Given the description of an element on the screen output the (x, y) to click on. 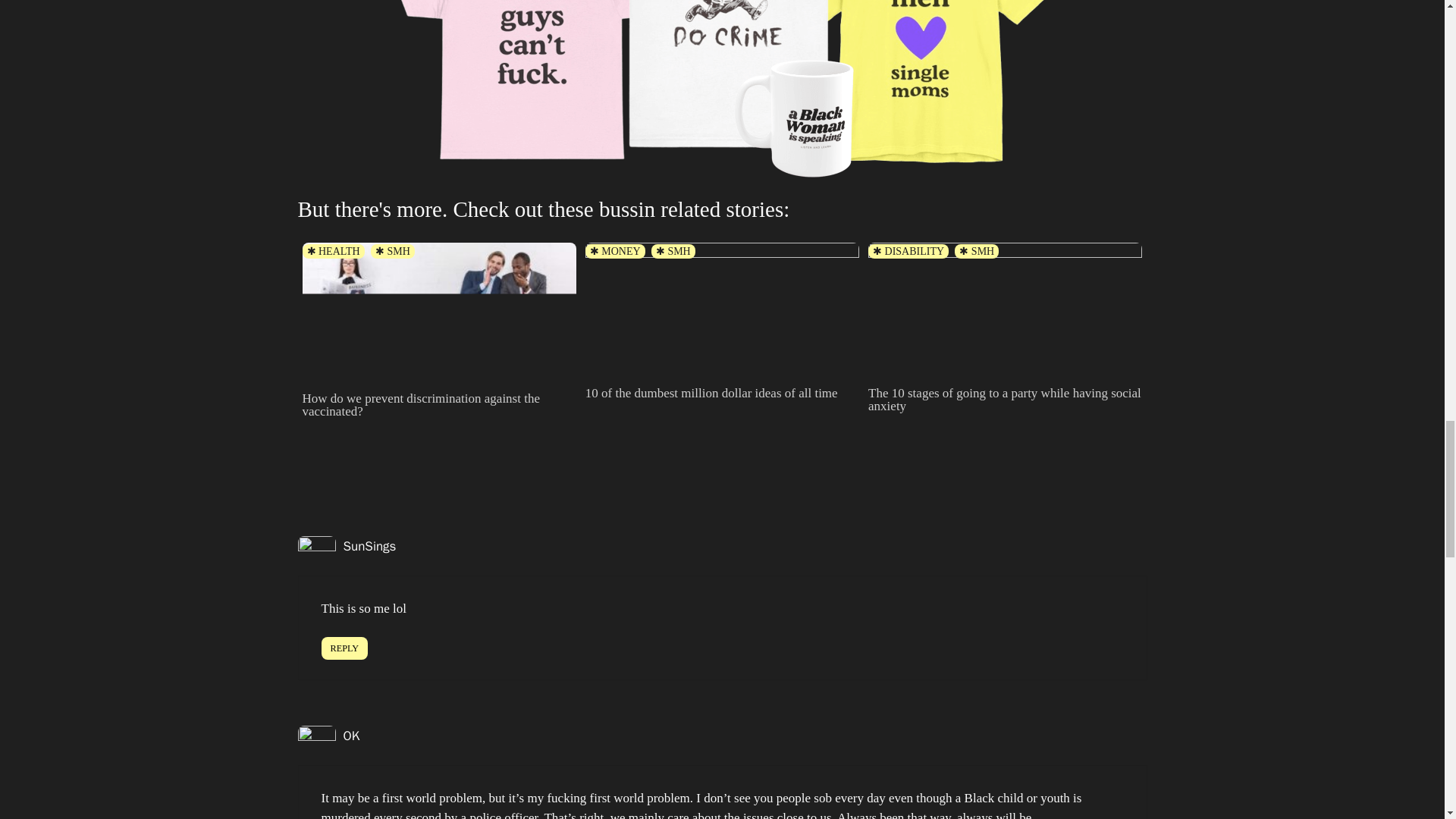
REPLY (344, 648)
10 of the dumbest million dollar ideas of all time (722, 322)
How do we prevent discrimination against the vaccinated? (438, 396)
